Given the description of an element on the screen output the (x, y) to click on. 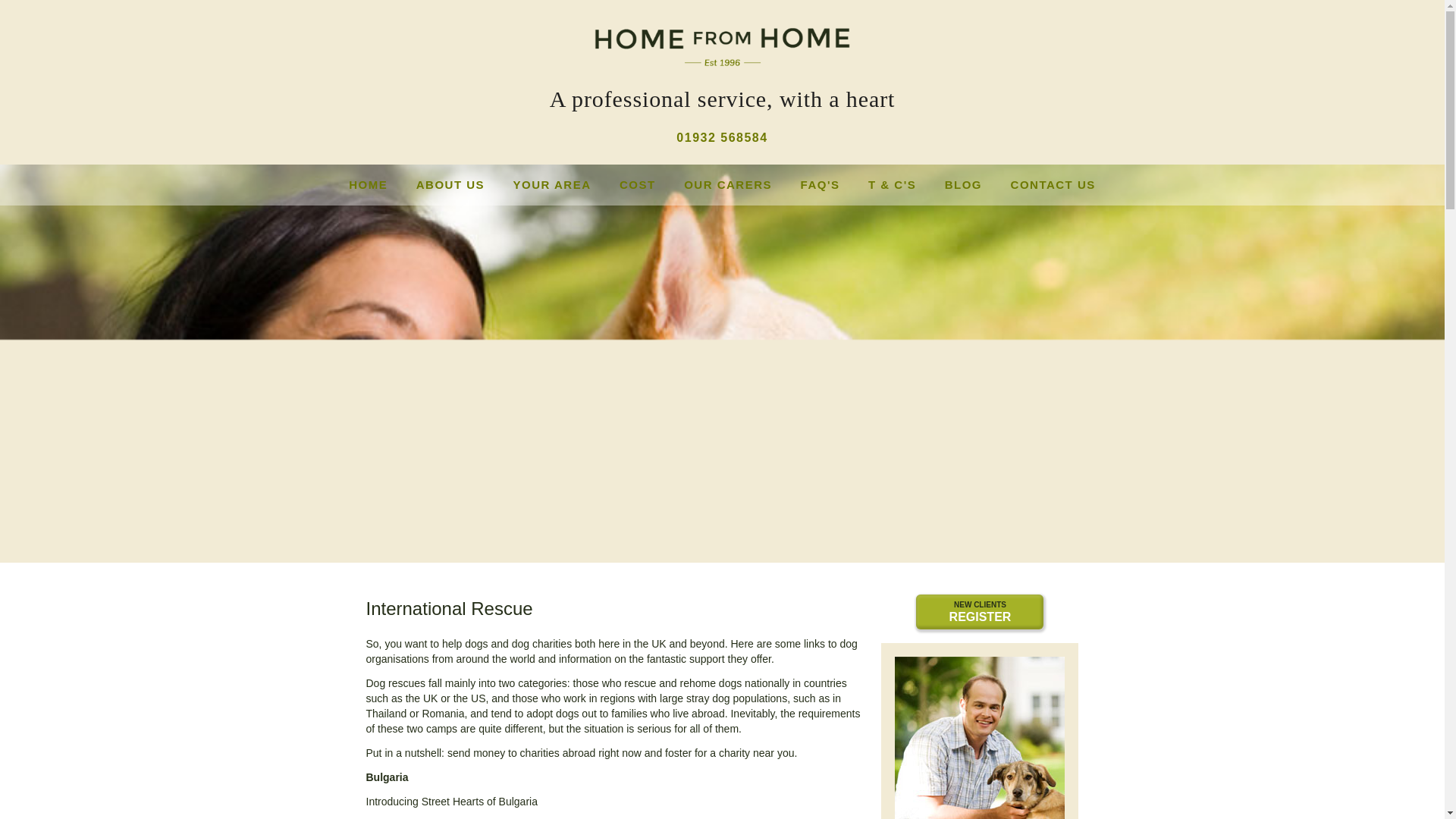
YOUR AREA (552, 184)
FAQ'S (820, 184)
BLOG (962, 184)
ABOUT US (450, 184)
OUR CARERS (727, 184)
HOME (979, 611)
New Clients (368, 184)
CONTACT US (979, 611)
COST (1053, 184)
